Given the description of an element on the screen output the (x, y) to click on. 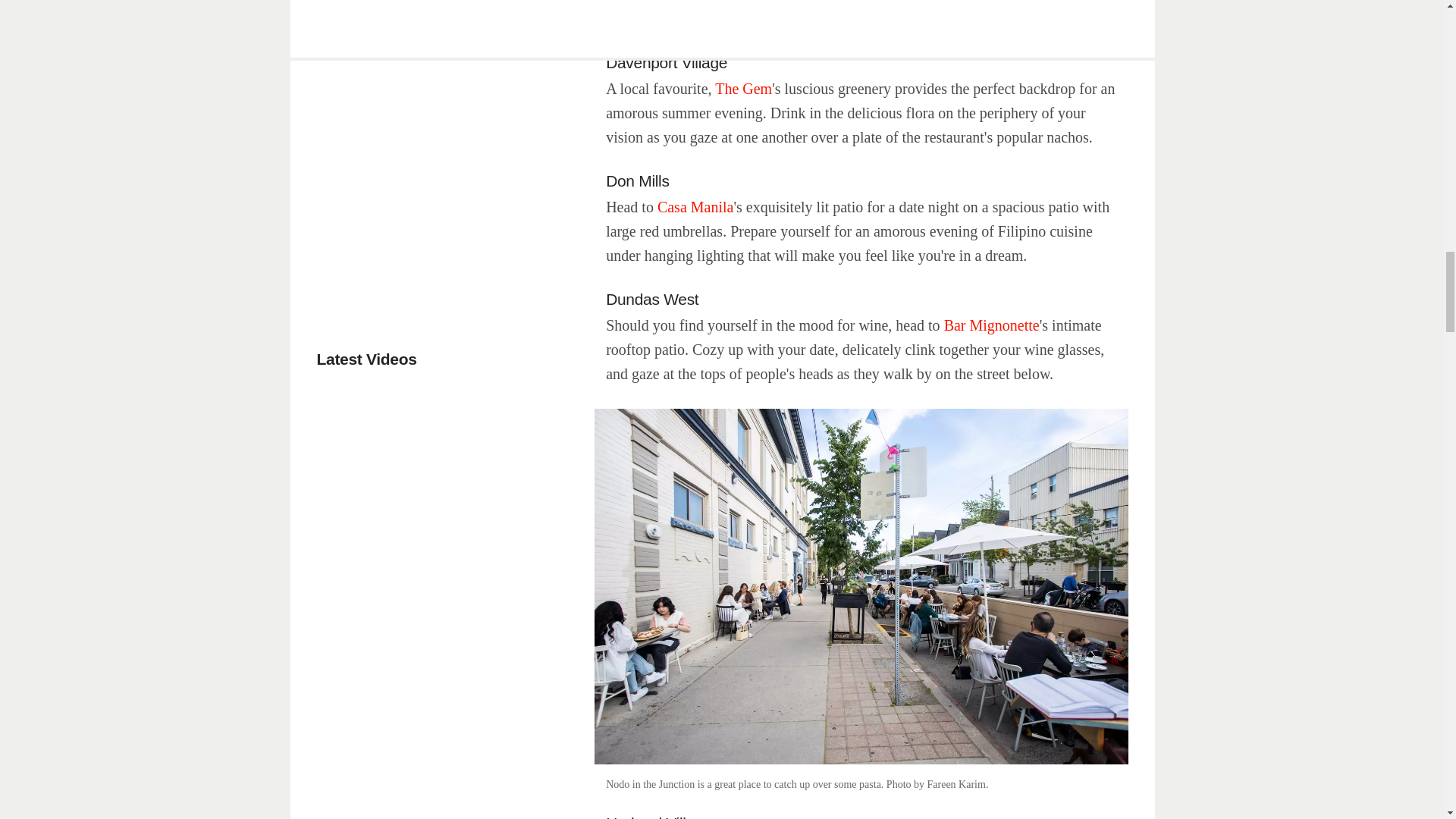
Casa Manila (695, 207)
Bar Mignonette (991, 324)
The Gem (742, 88)
